Given the description of an element on the screen output the (x, y) to click on. 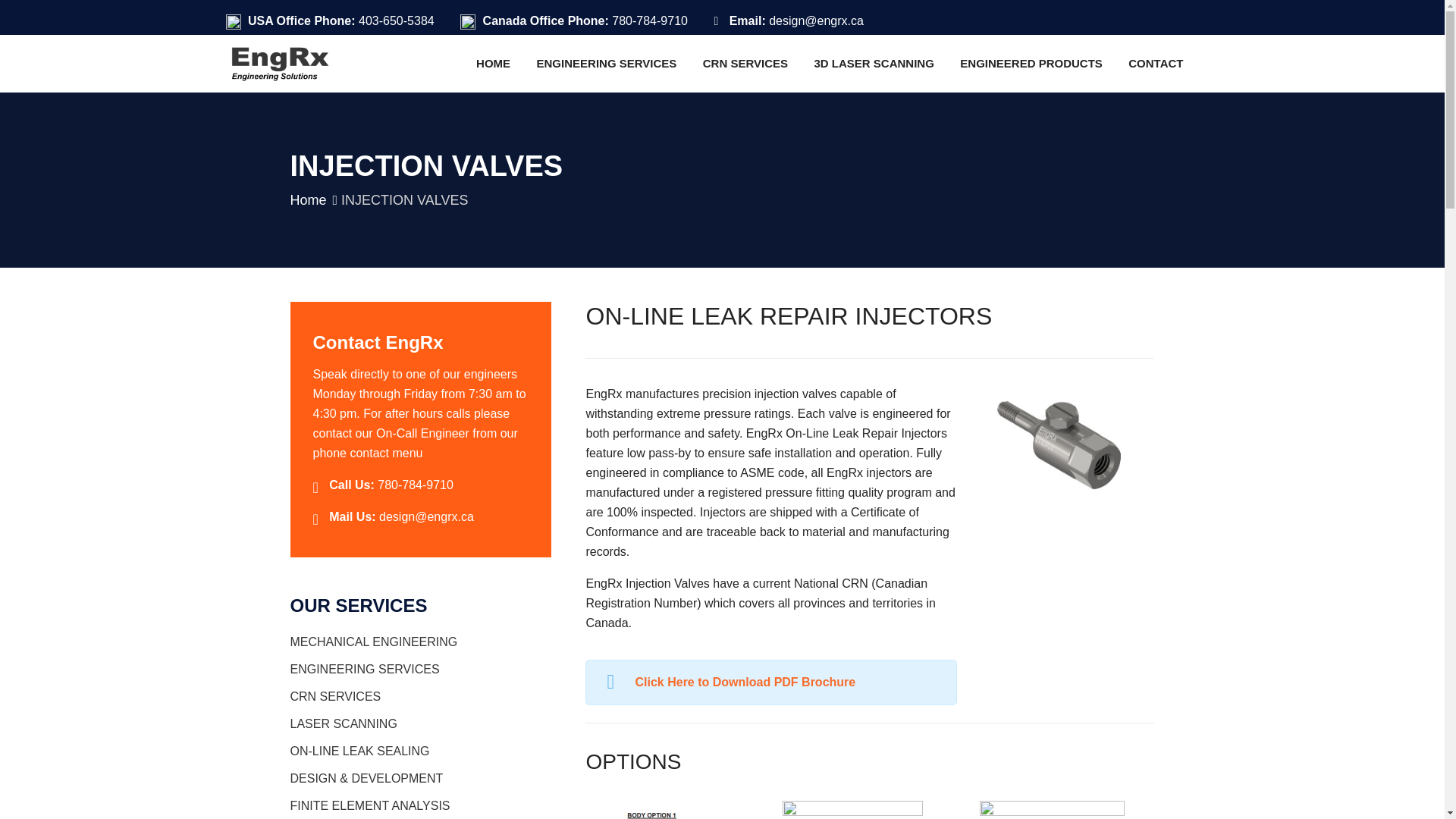
HOME (492, 63)
CONTACT (1154, 63)
3D LASER SCANNING (873, 63)
ENGINEERING SERVICES (606, 63)
403-650-5384 (395, 20)
ENGINEERING SERVICES (606, 63)
ENGINEERED PRODUCTS (1031, 63)
780-784-9710 (649, 20)
HOME (492, 63)
CRN SERVICES (745, 63)
